Given the description of an element on the screen output the (x, y) to click on. 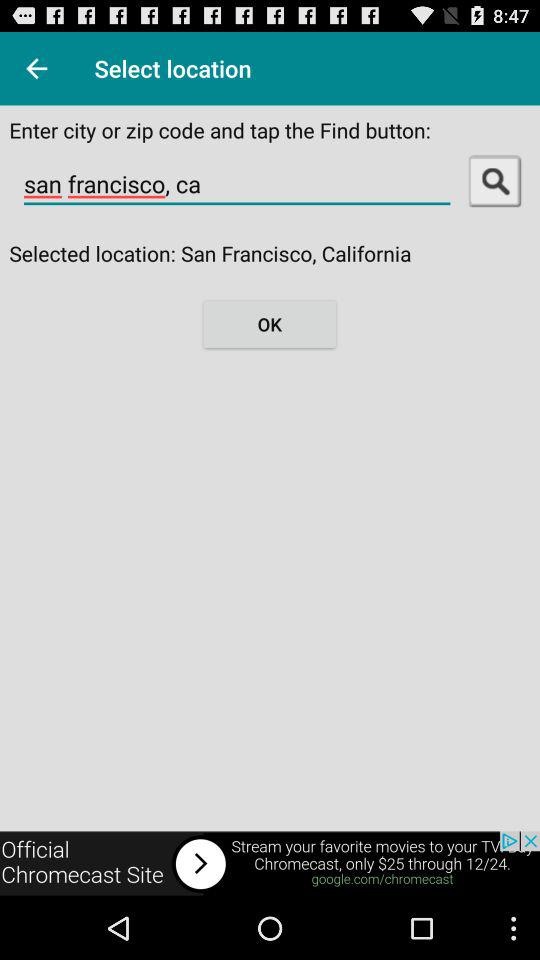
search option (494, 180)
